Given the description of an element on the screen output the (x, y) to click on. 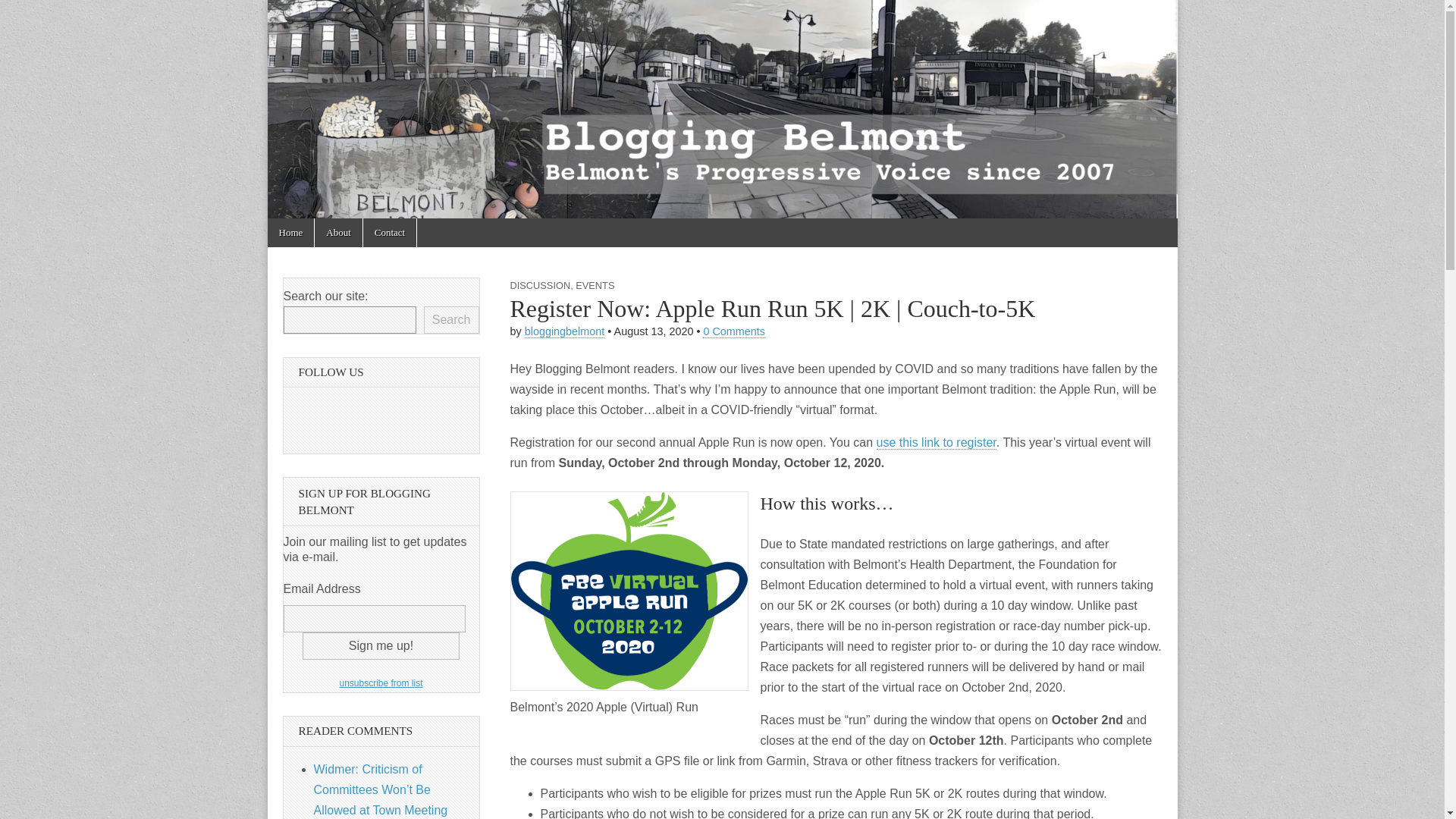
Posts by bloggingbelmont (564, 331)
Sign me up! (380, 646)
Blogging Belmont (349, 58)
Contacting BB (389, 232)
DISCUSSION (539, 285)
About (338, 232)
use this link to register (935, 442)
